Given the description of an element on the screen output the (x, y) to click on. 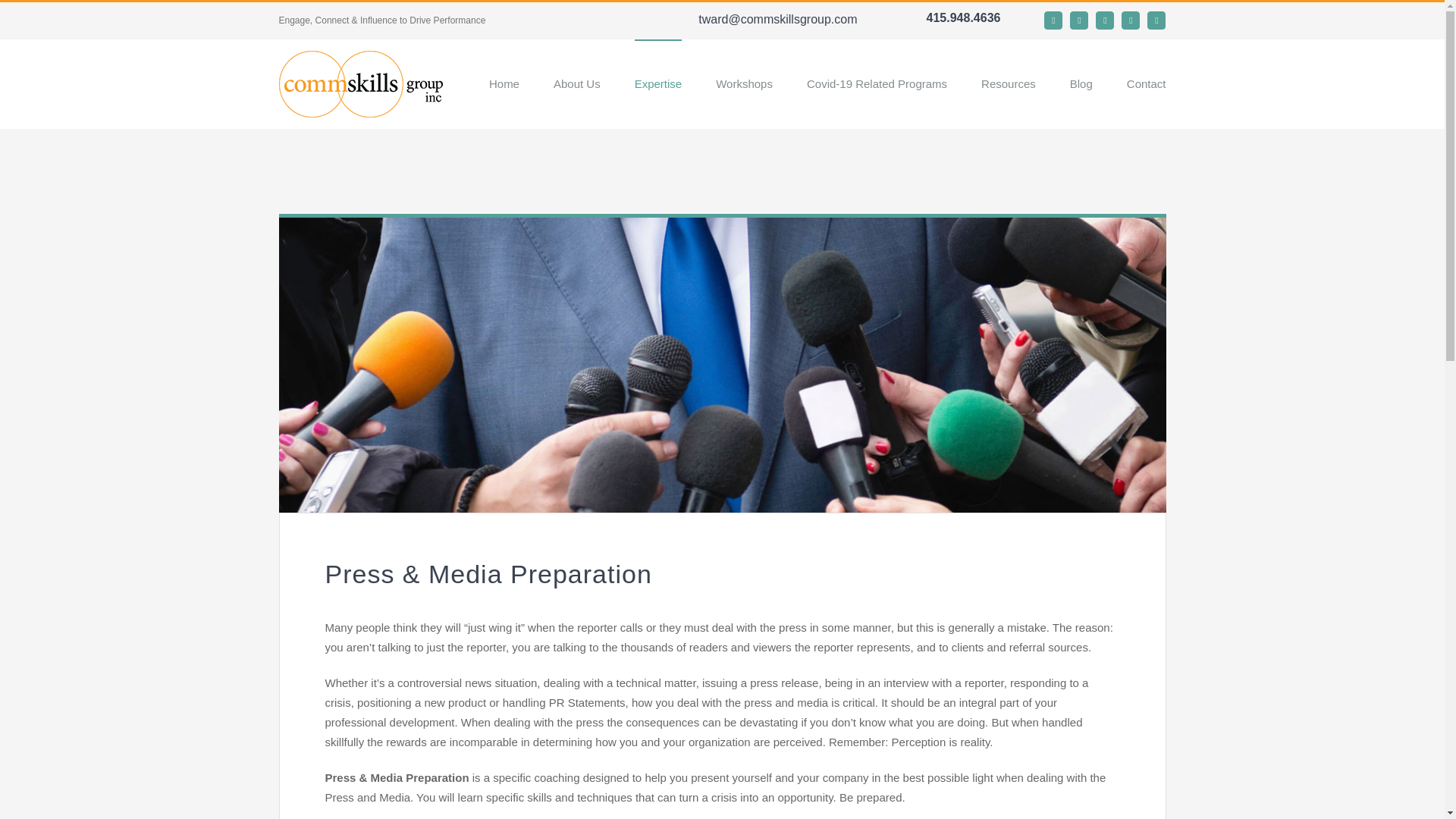
twitter (1130, 20)
instagram (1156, 20)
linkedin (1052, 20)
facebook (1104, 20)
twitter (1130, 20)
Covid-19 Related Programs (876, 82)
linkedin (1052, 20)
youtube (1078, 20)
facebook (1104, 20)
415.948.4636 (949, 17)
